Given the description of an element on the screen output the (x, y) to click on. 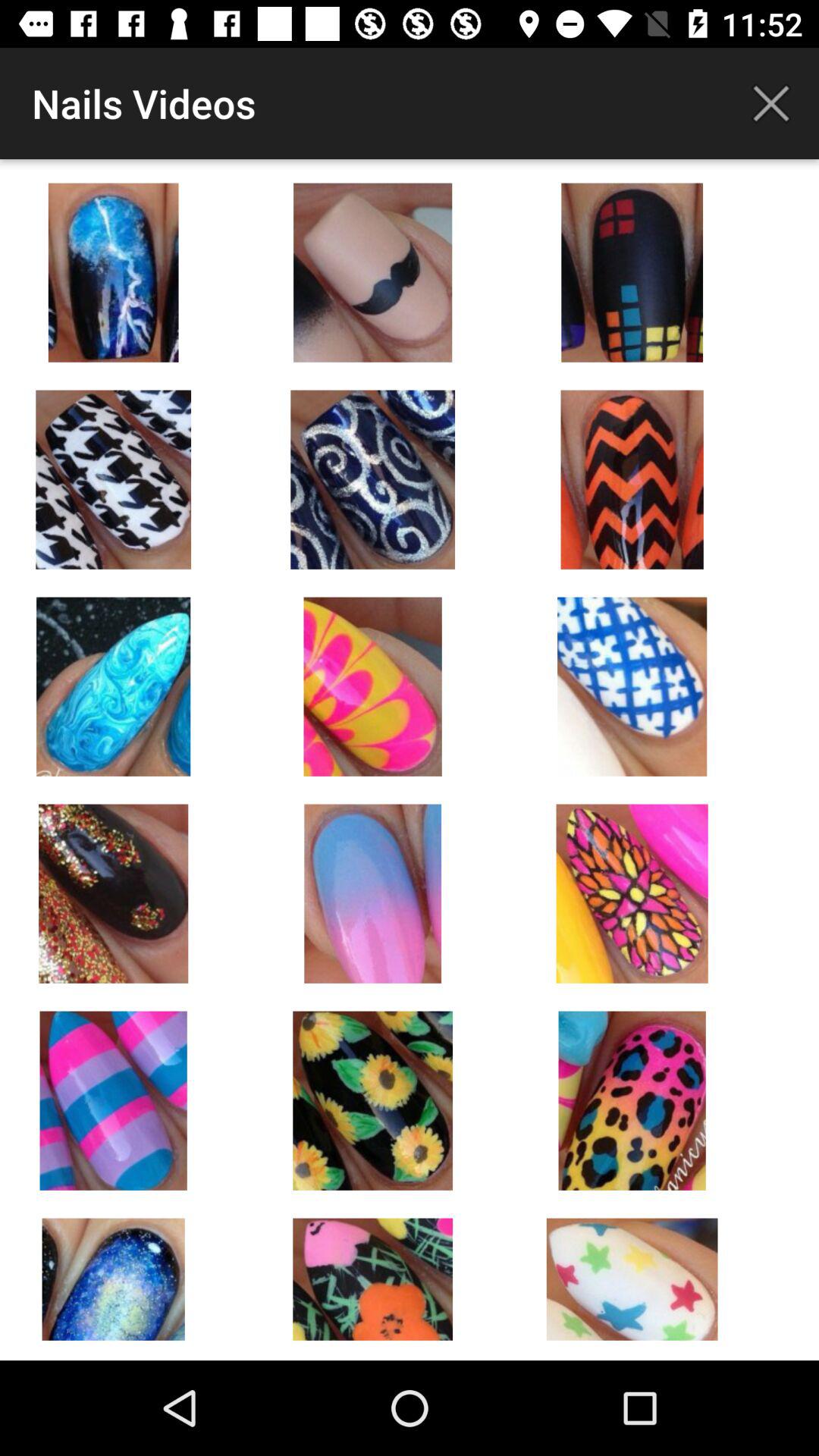
press icon to the right of the nails videos icon (771, 103)
